Given the description of an element on the screen output the (x, y) to click on. 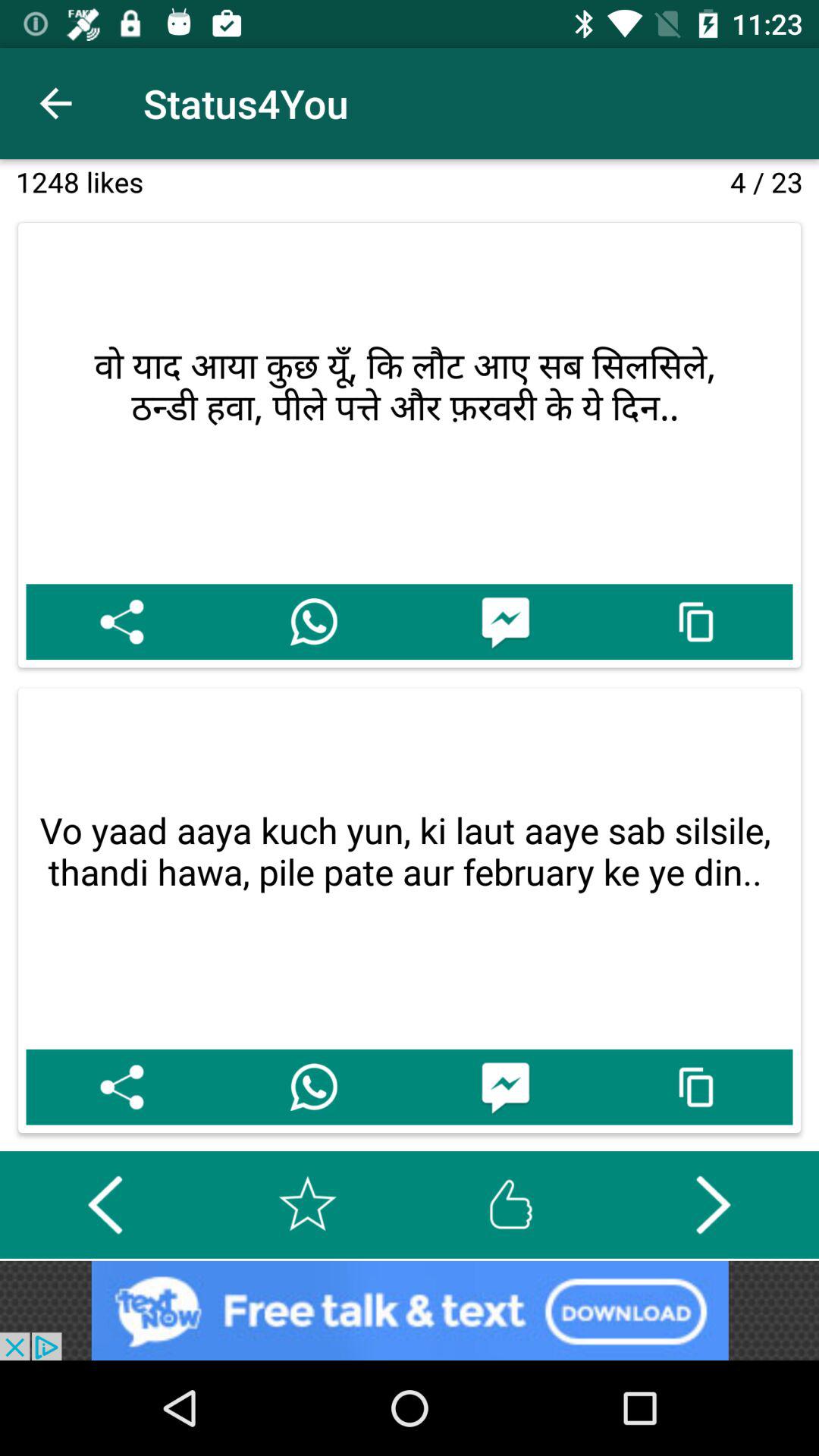
download free talk text (409, 1310)
